Given the description of an element on the screen output the (x, y) to click on. 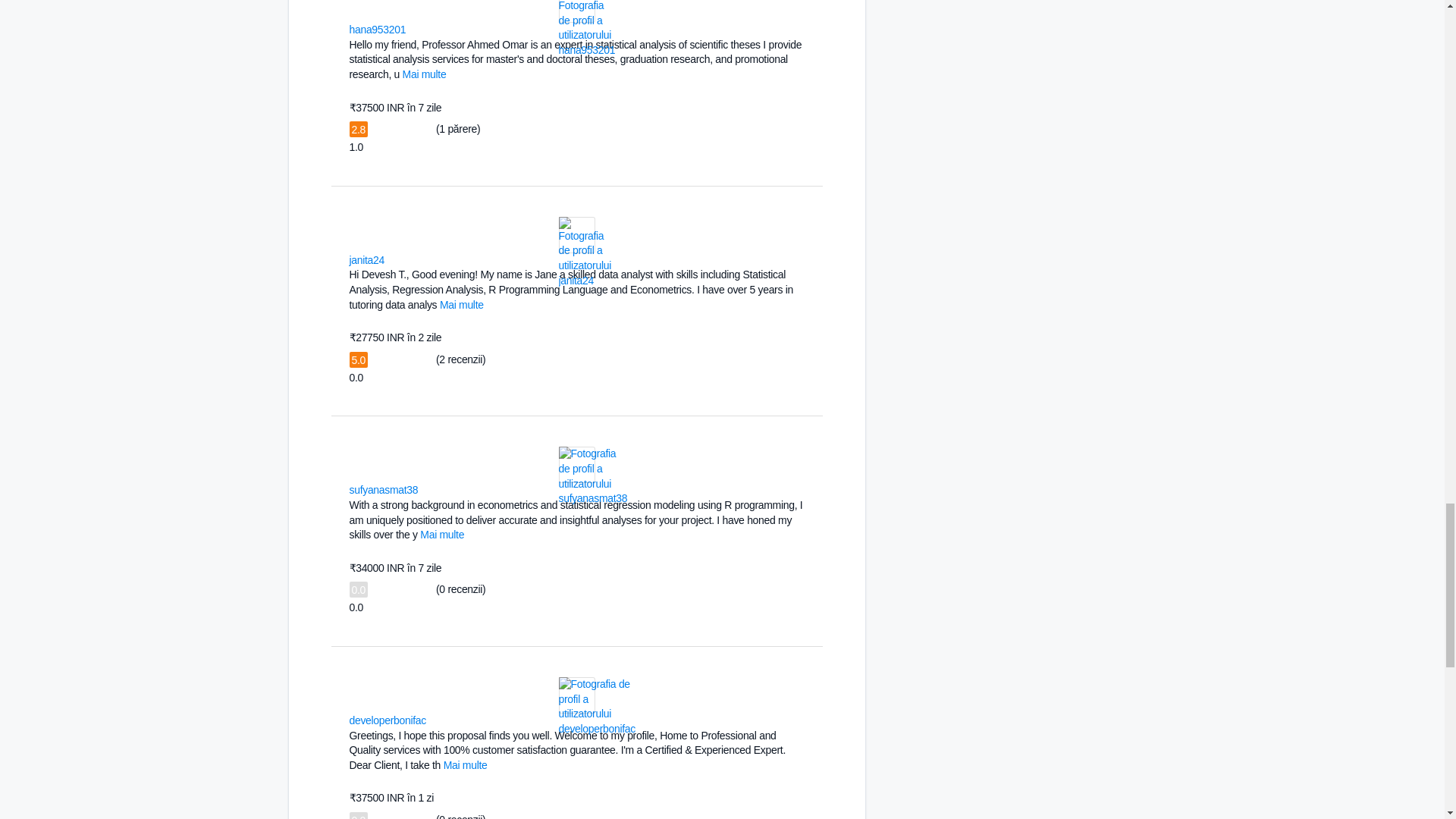
janita24 (366, 259)
United States (435, 718)
Egypt (415, 28)
hana953201 (377, 29)
Pakistan (426, 488)
Mai multe (461, 304)
developerbonifac (387, 720)
sufyanasmat38 (383, 490)
Mai multe (465, 765)
Mai multe (442, 534)
